Given the description of an element on the screen output the (x, y) to click on. 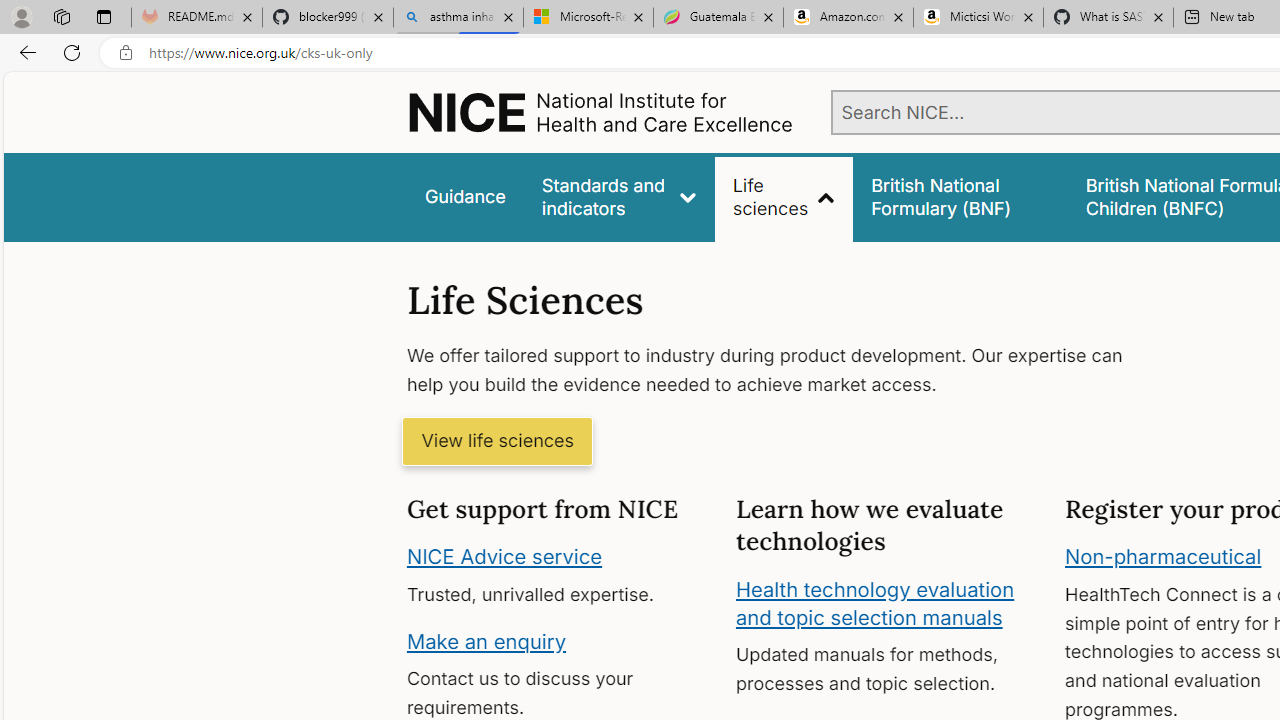
Health technology evaluation and topic selection manuals (874, 603)
Life sciences (783, 196)
View life sciences (497, 441)
Microsoft-Report a Concern to Bing (587, 17)
asthma inhaler - Search (458, 17)
Guidance (464, 196)
Home (599, 112)
false (959, 196)
